Given the description of an element on the screen output the (x, y) to click on. 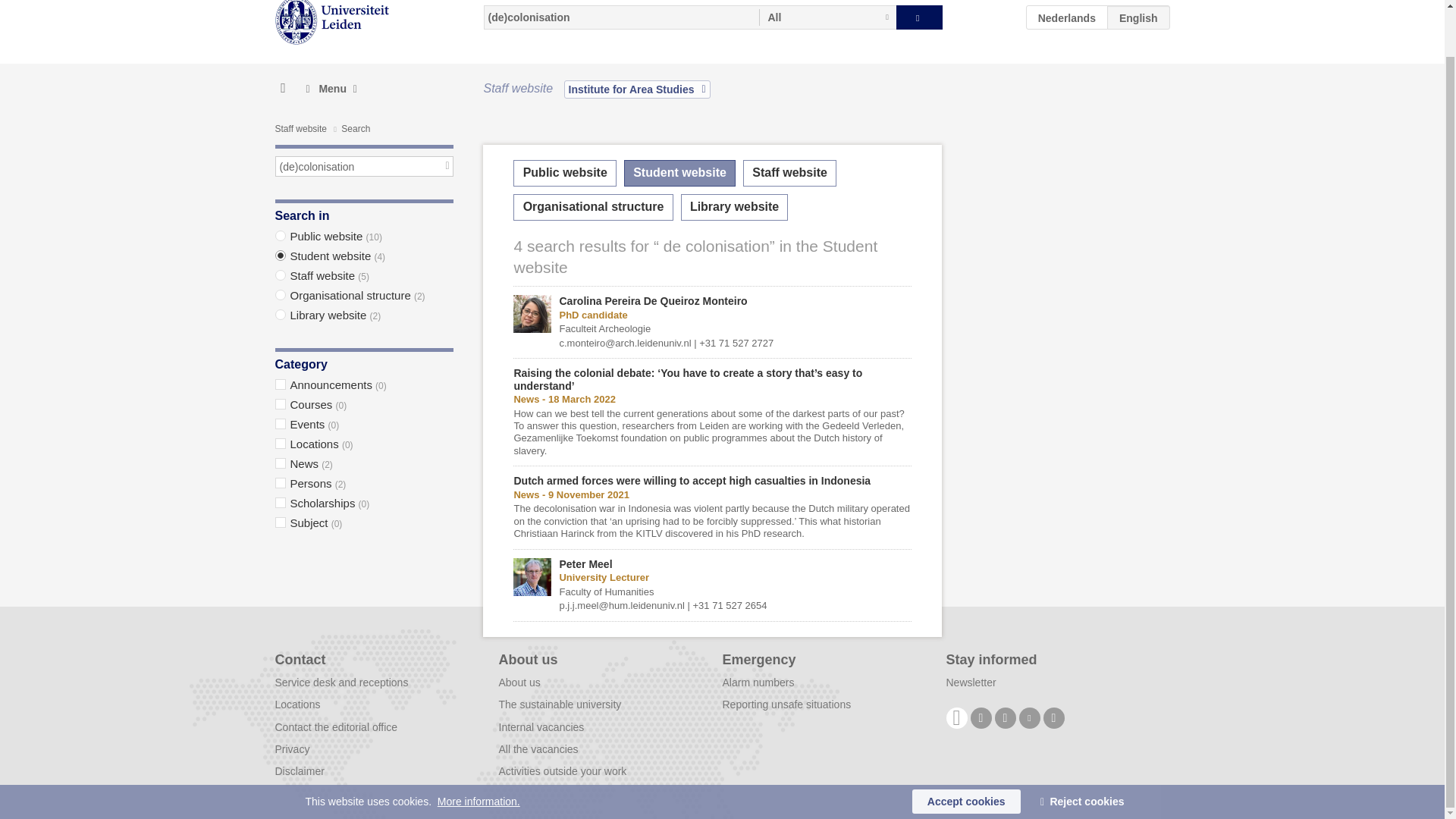
Search (919, 16)
Institute for Area Studies (637, 89)
All (827, 16)
Menu (330, 88)
NL (1067, 16)
